Given the description of an element on the screen output the (x, y) to click on. 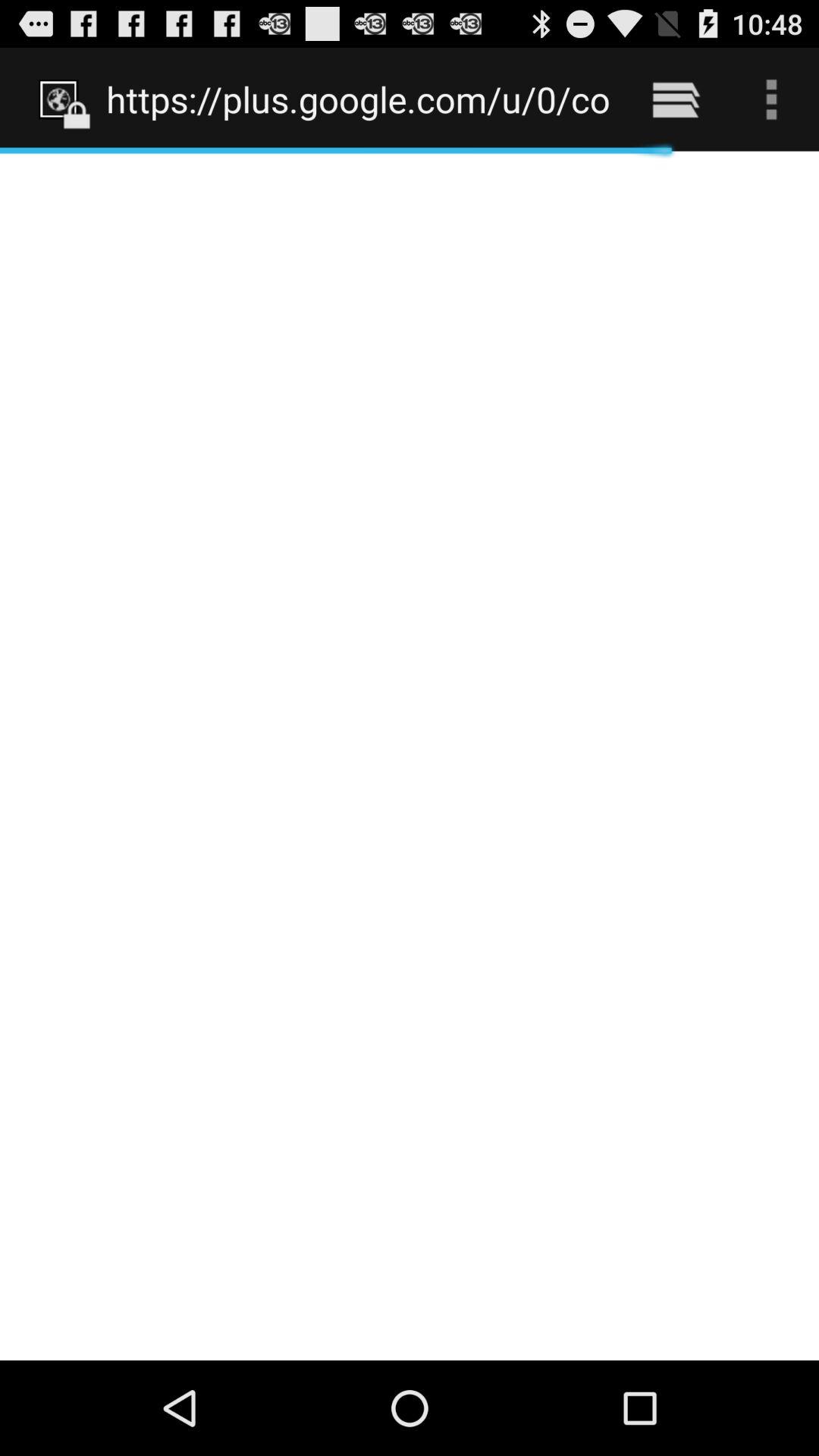
press item next to the https plus google item (675, 99)
